Given the description of an element on the screen output the (x, y) to click on. 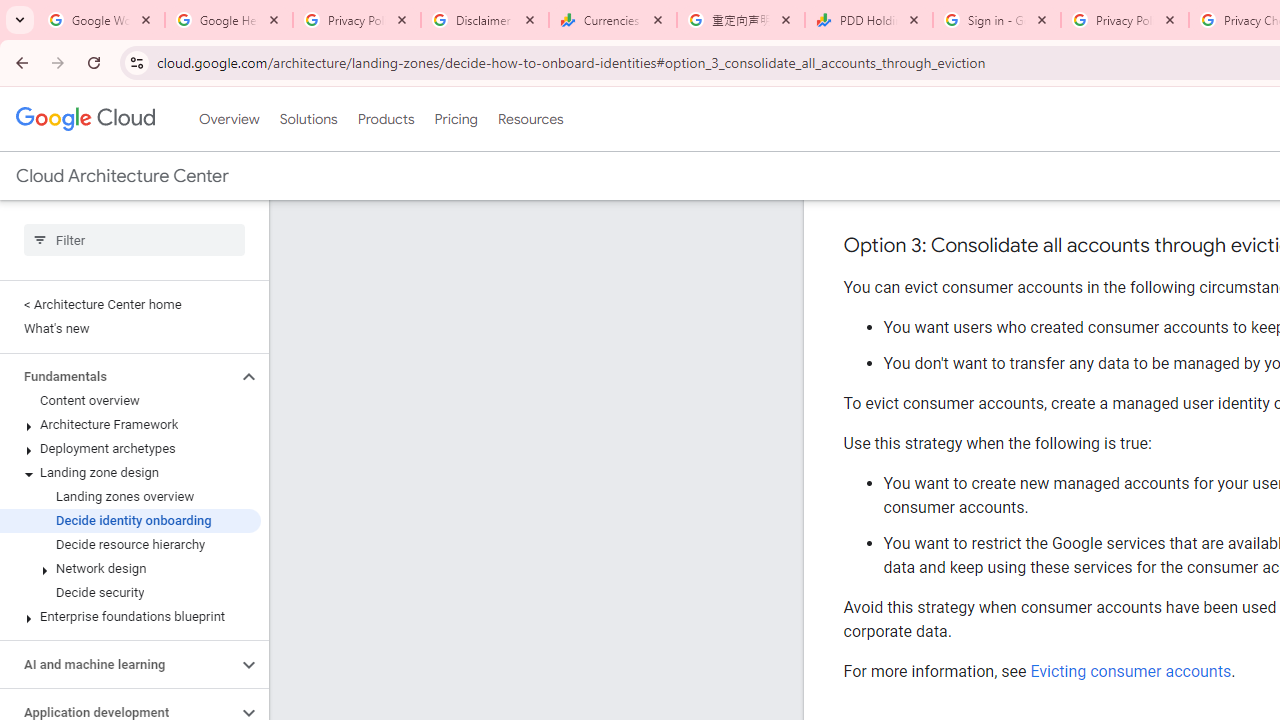
Sign in - Google Accounts (997, 20)
Decide resource hierarchy (130, 544)
Pricing (455, 119)
Evicting consumer accounts (1130, 671)
PDD Holdings Inc - ADR (PDD) Price & News - Google Finance (869, 20)
Resources (530, 119)
Migrating consumer accounts (1136, 187)
Decide identity onboarding (130, 520)
< Architecture Center home (130, 304)
Google Cloud (84, 118)
Google Workspace Admin Community (101, 20)
